Given the description of an element on the screen output the (x, y) to click on. 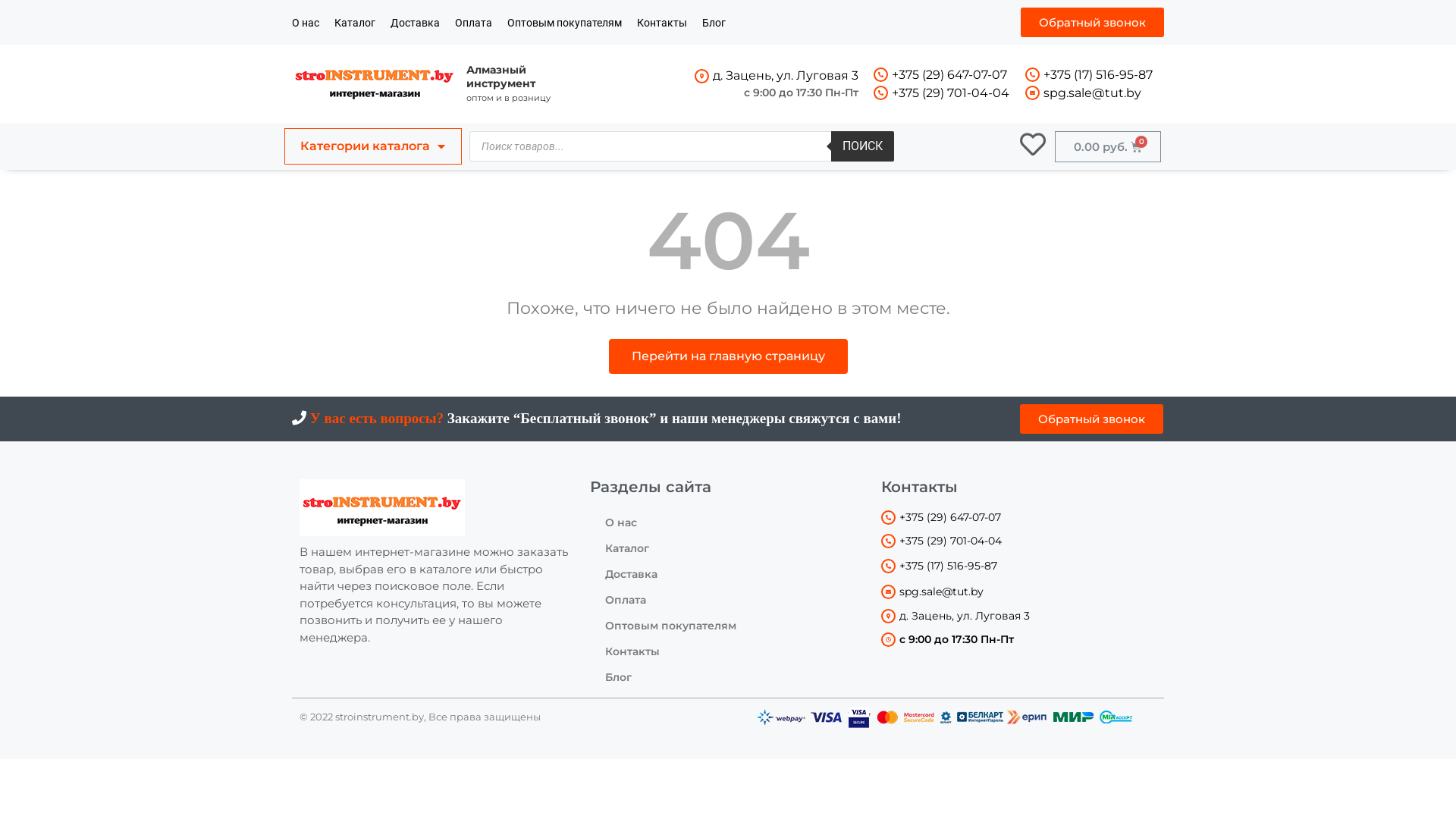
+375 (17) 516-95-87 Element type: text (1097, 74)
+375 (29) 701-04-04 Element type: text (950, 540)
spg.sale@tut.by Element type: text (1092, 92)
+375 (29) 647-07-07 Element type: text (950, 517)
+375 (29) 701-04-04 Element type: text (950, 92)
+375 (29) 647-07-07 Element type: text (949, 74)
+375 (17) 516-95-87 Element type: text (948, 565)
spg.sale@tut.by Element type: text (941, 591)
